Given the description of an element on the screen output the (x, y) to click on. 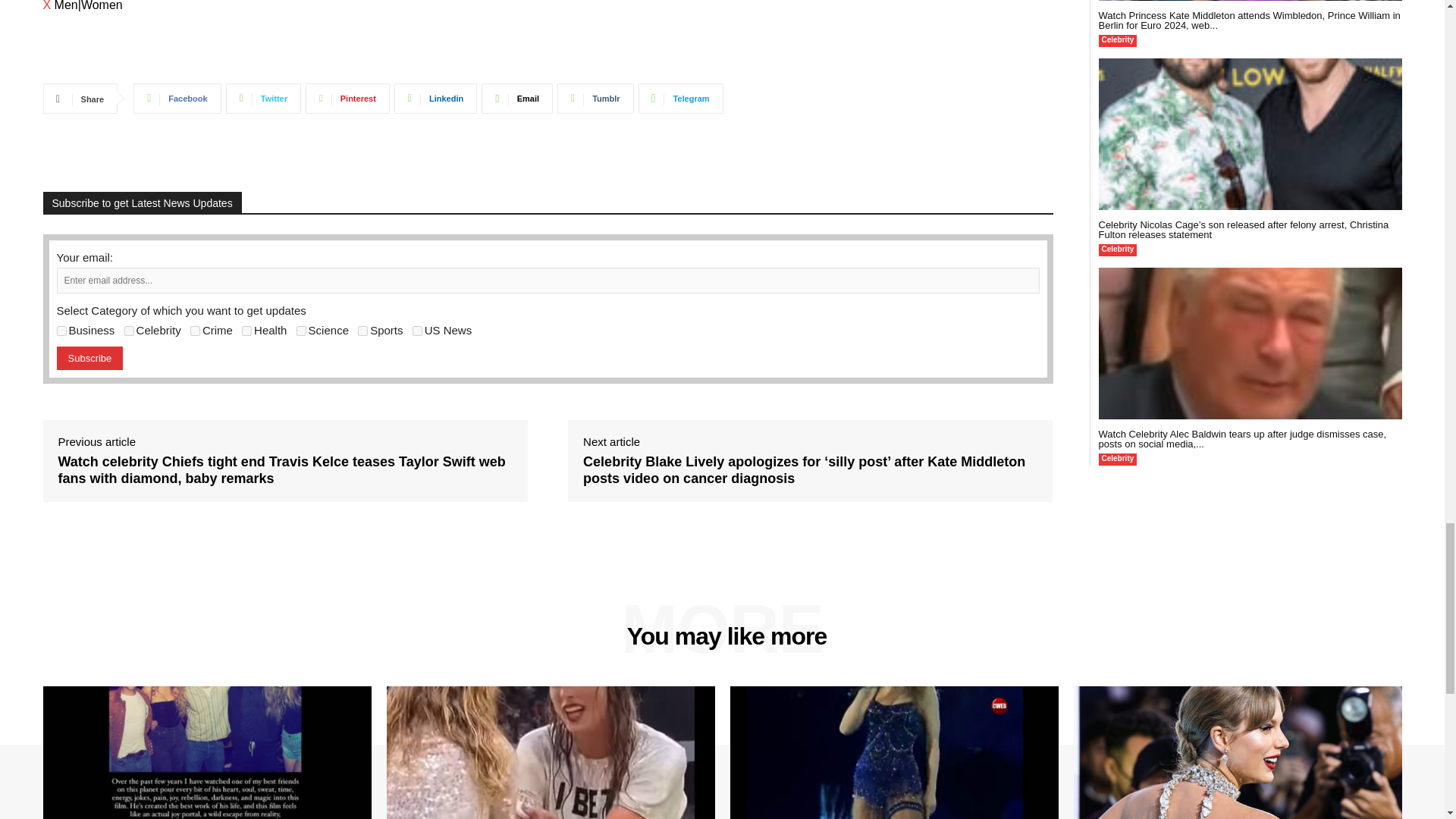
Subscribe (89, 358)
